Given the description of an element on the screen output the (x, y) to click on. 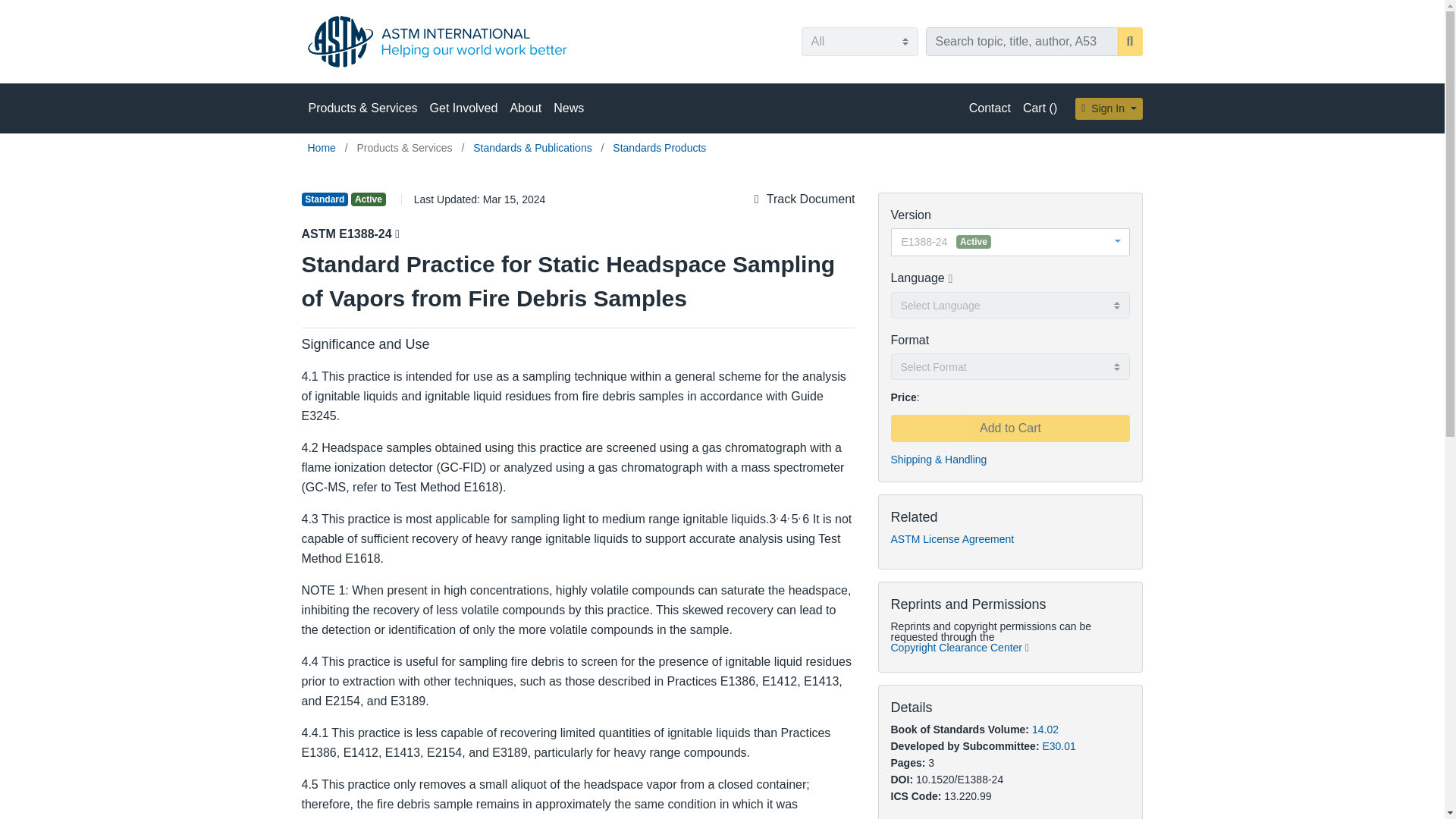
Go to Home Page (323, 147)
Add to Cart (1009, 428)
All (858, 41)
